Given the description of an element on the screen output the (x, y) to click on. 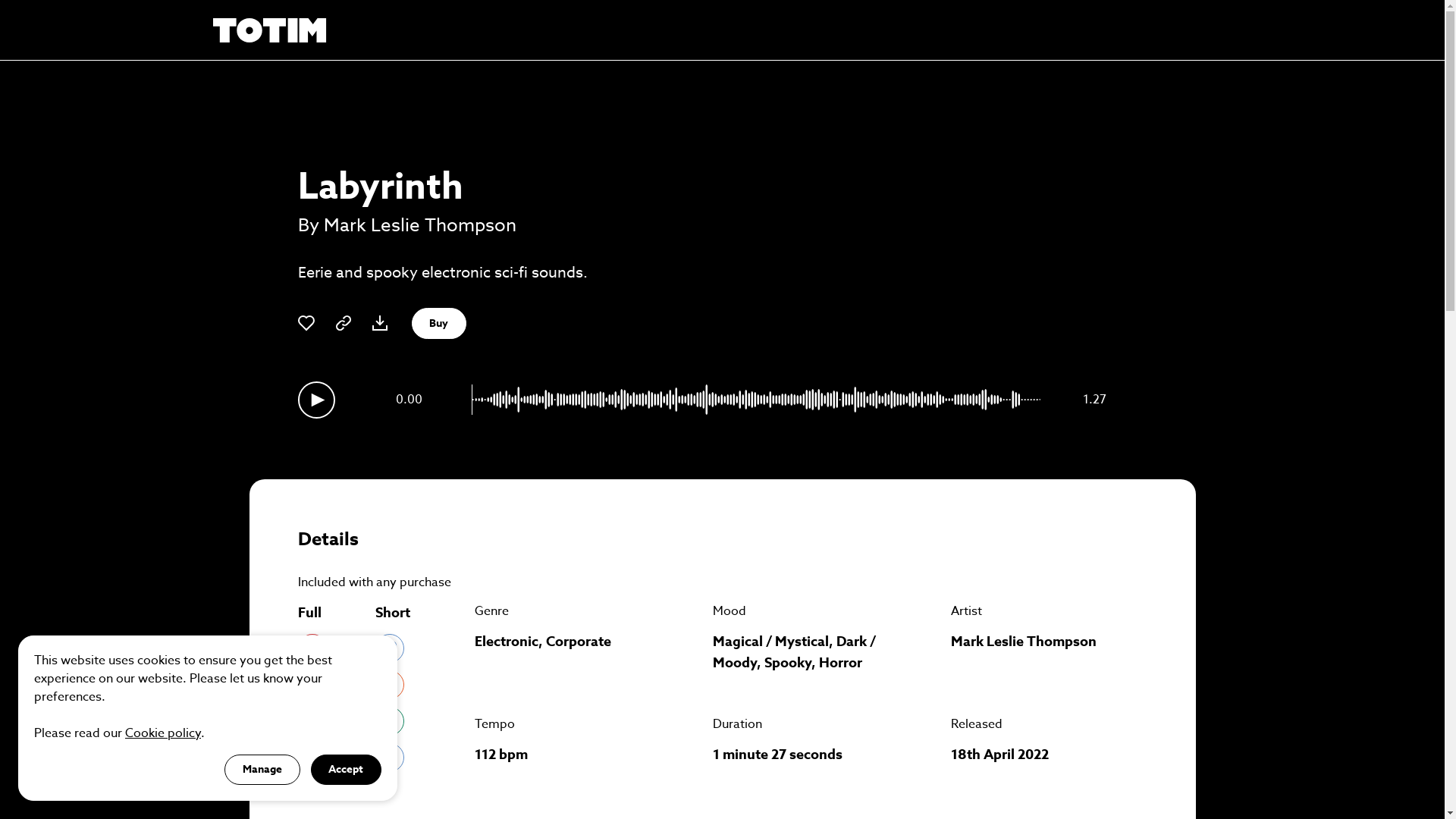
Cookie policy Element type: text (162, 732)
Buy Element type: text (438, 322)
Accept Element type: text (346, 768)
Manage Element type: text (262, 768)
Home Element type: hover (269, 30)
